Given the description of an element on the screen output the (x, y) to click on. 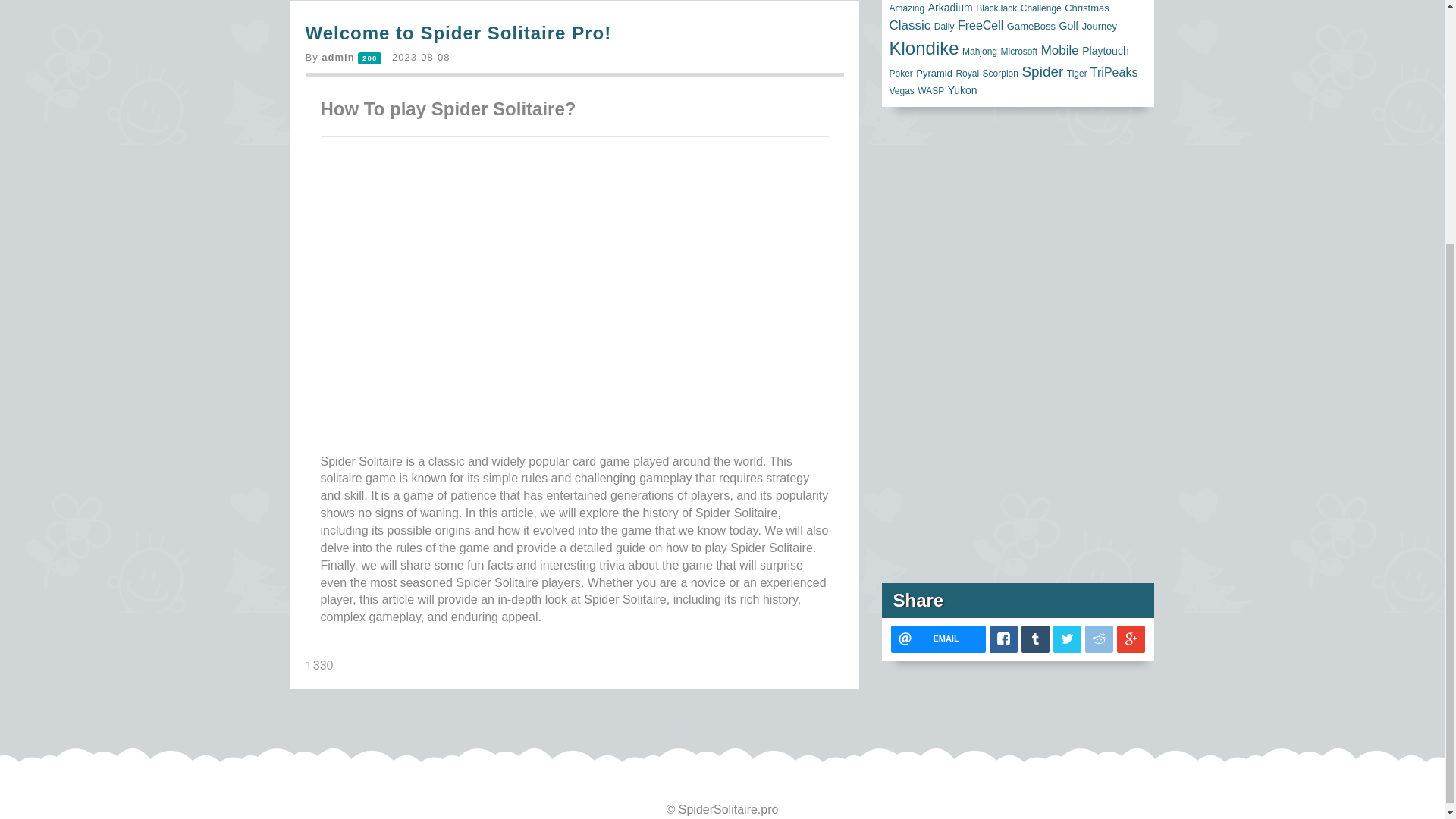
Golf (1068, 25)
Daily (944, 26)
TriPeaks (1114, 72)
Royal (966, 72)
Welcome to Spider Solitaire Pro! (457, 32)
Amazing (906, 8)
BlackJack (995, 8)
Spider (1042, 71)
Mahjong (979, 50)
Mobile (1059, 50)
Poker (900, 72)
Klondike (923, 47)
Playtouch (1104, 50)
Journey (1098, 25)
Pyramid (933, 72)
